Given the description of an element on the screen output the (x, y) to click on. 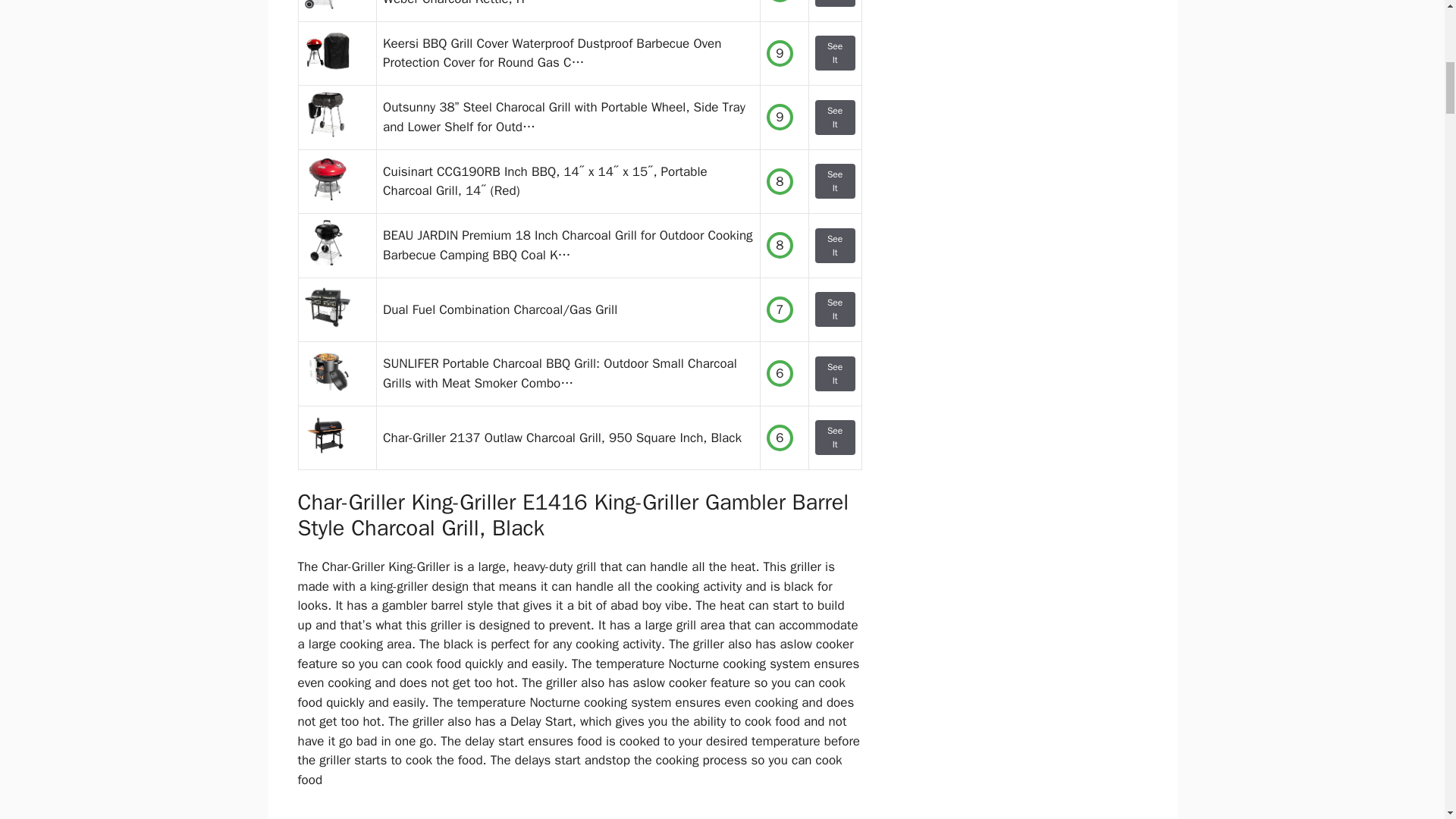
Scroll back to top (1406, 720)
